Given the description of an element on the screen output the (x, y) to click on. 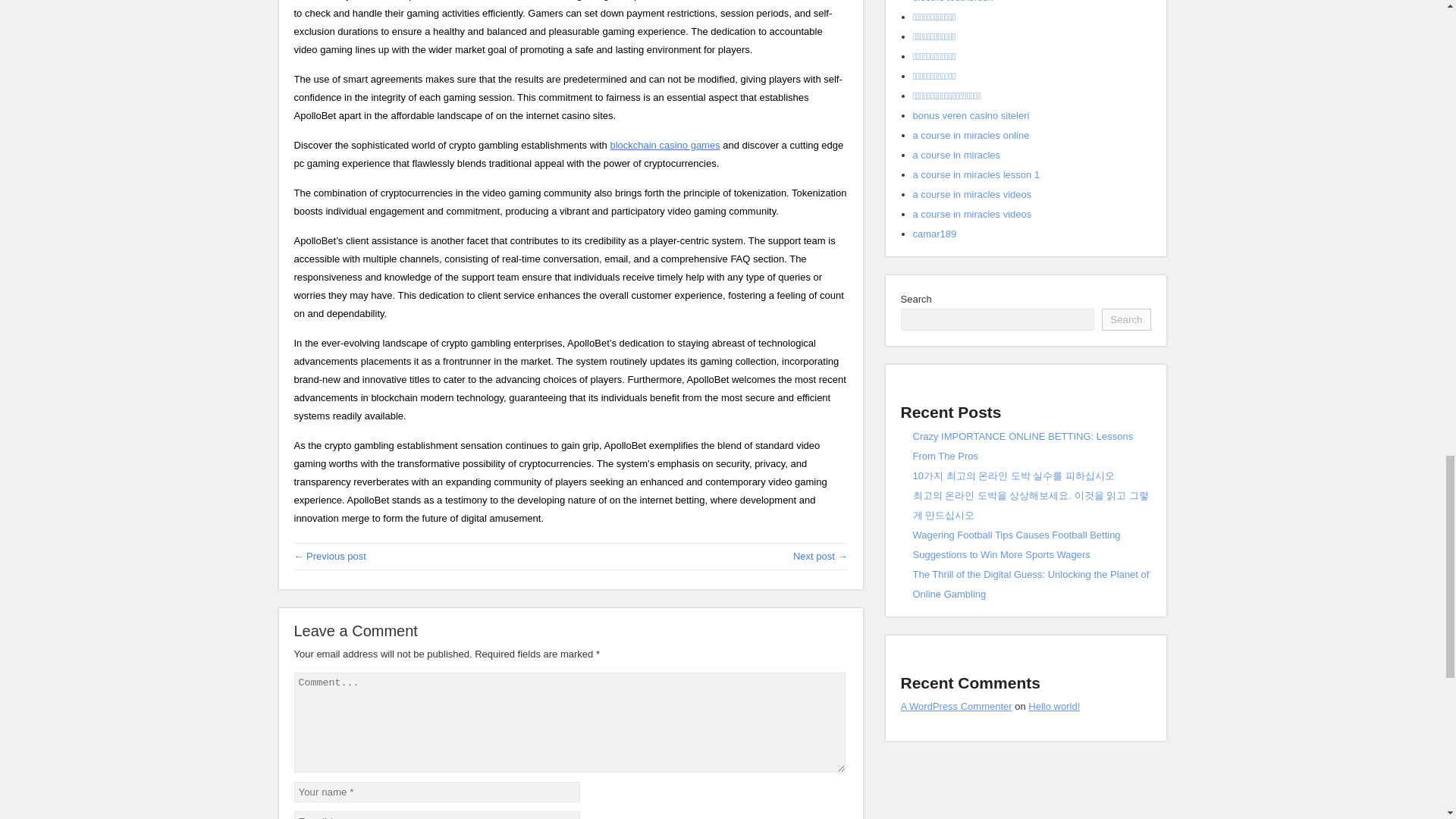
Why The Movie "After Earth" Is Important (330, 555)
blockchain casino games (664, 144)
Obtaining The Greatest On-line Gambling Gives And Promotions (820, 555)
